Given the description of an element on the screen output the (x, y) to click on. 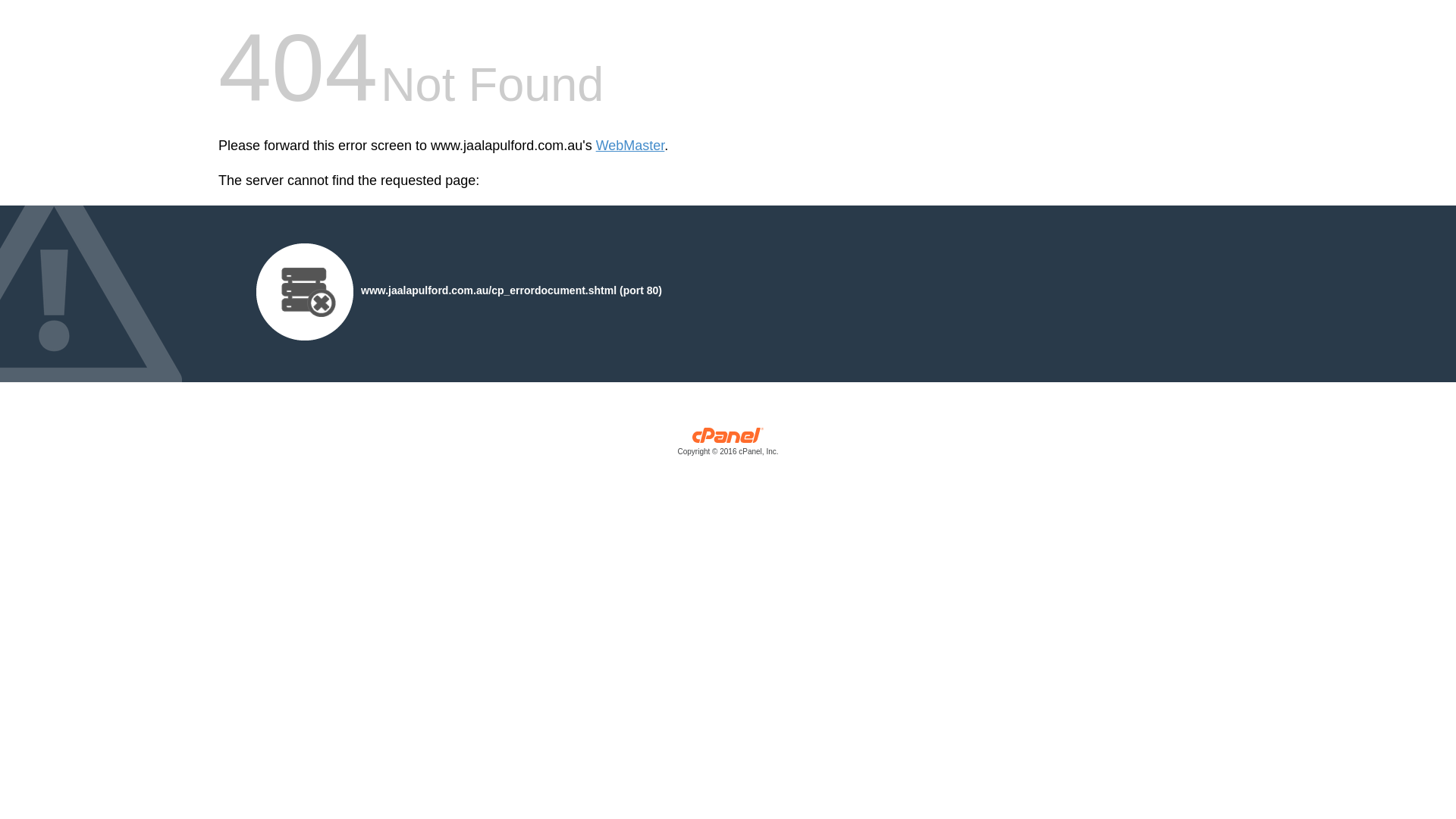
WebMaster Element type: text (630, 145)
